Given the description of an element on the screen output the (x, y) to click on. 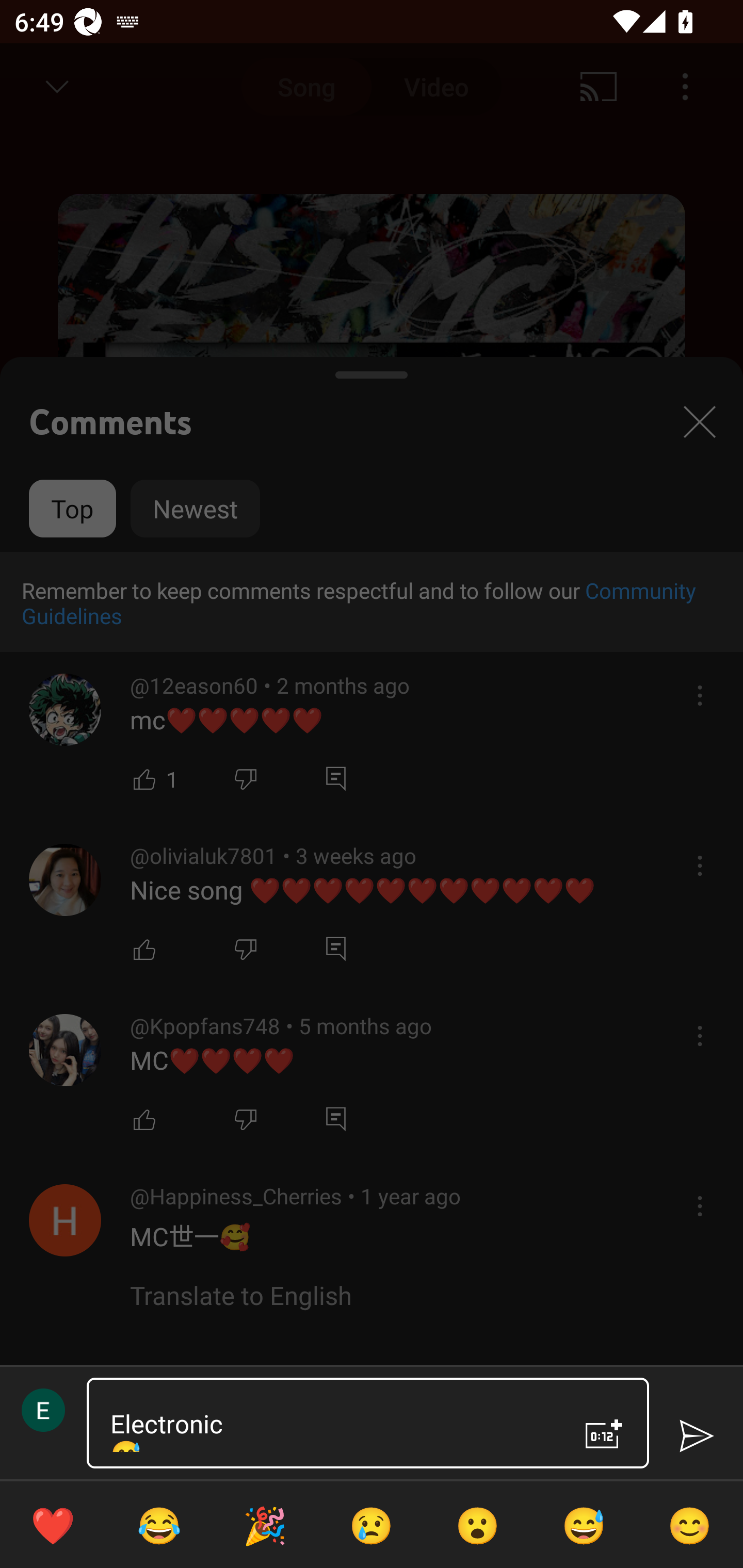
Electronic
😅 (329, 1422)
Add a timestamp (603, 1433)
Send comment (695, 1436)
❤ (53, 1524)
😂 (158, 1524)
🎉 (264, 1524)
😢 (371, 1524)
😮 (477, 1524)
😅 (583, 1524)
😊 (689, 1524)
